Given the description of an element on the screen output the (x, y) to click on. 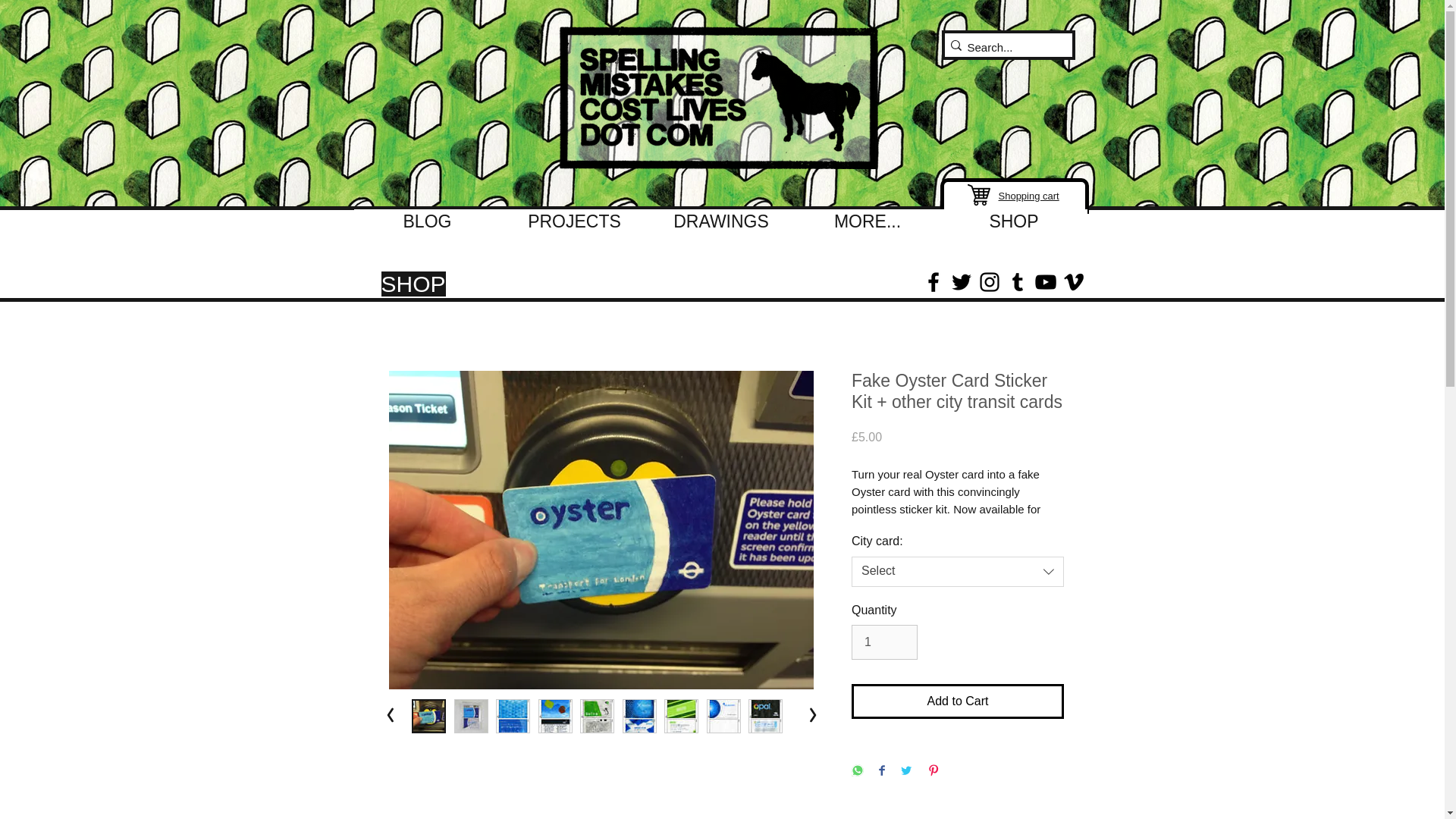
SHOP (1013, 226)
BLOG (426, 226)
Shopping cart (1027, 195)
Add to Cart (957, 701)
DRAWINGS (720, 226)
1 (884, 642)
PROJECTS (573, 226)
Select (957, 571)
MORE... (867, 226)
